Given the description of an element on the screen output the (x, y) to click on. 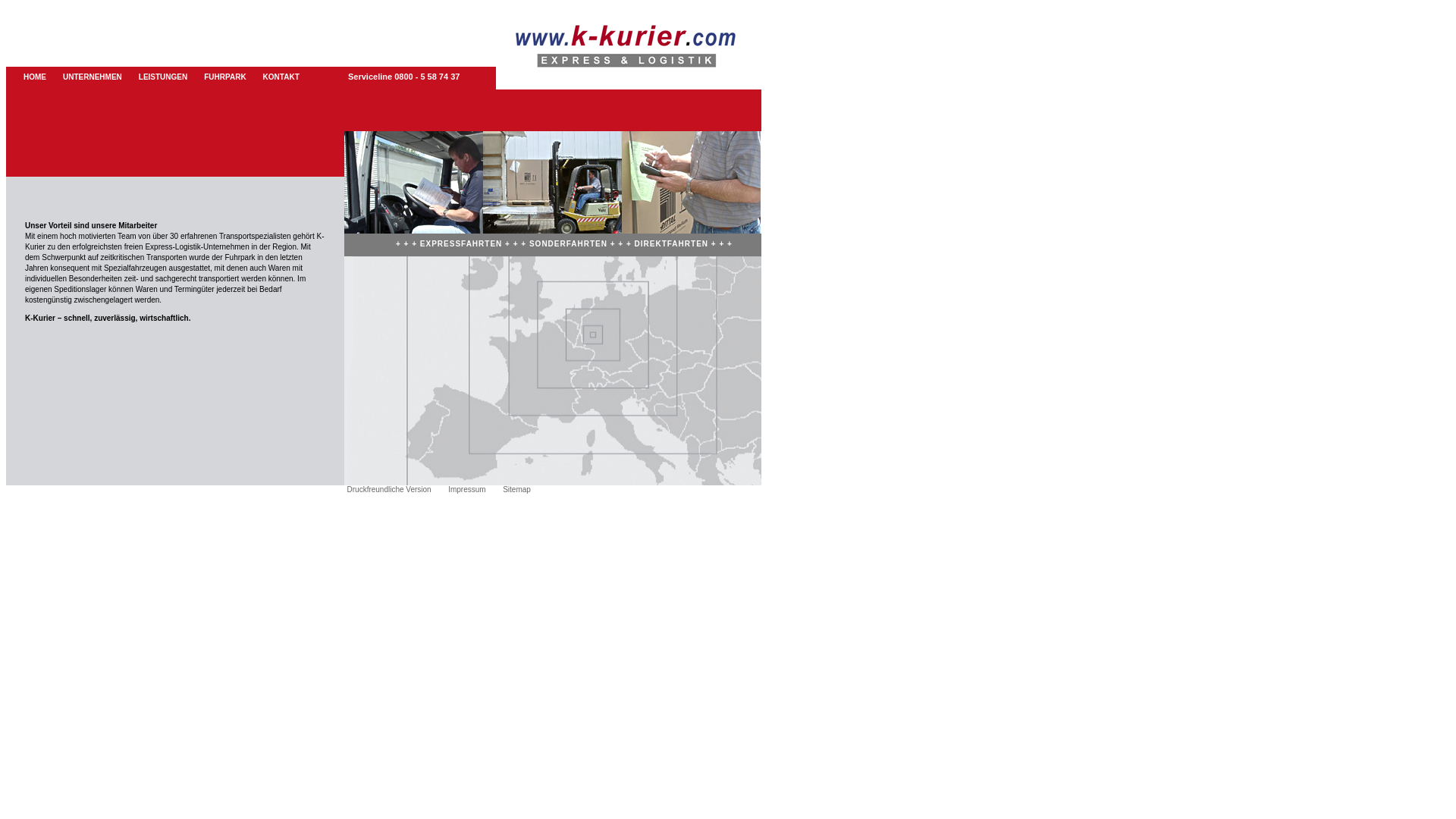
LEISTUNGEN Element type: text (162, 77)
UNTERNEHMEN Element type: text (92, 77)
KONTAKT Element type: text (280, 77)
HOME Element type: text (34, 77)
Impressum Element type: text (474, 489)
Sitemap Element type: text (524, 489)
FUHRPARK Element type: text (224, 77)
Druckfreundliche Version Element type: text (396, 489)
